Given the description of an element on the screen output the (x, y) to click on. 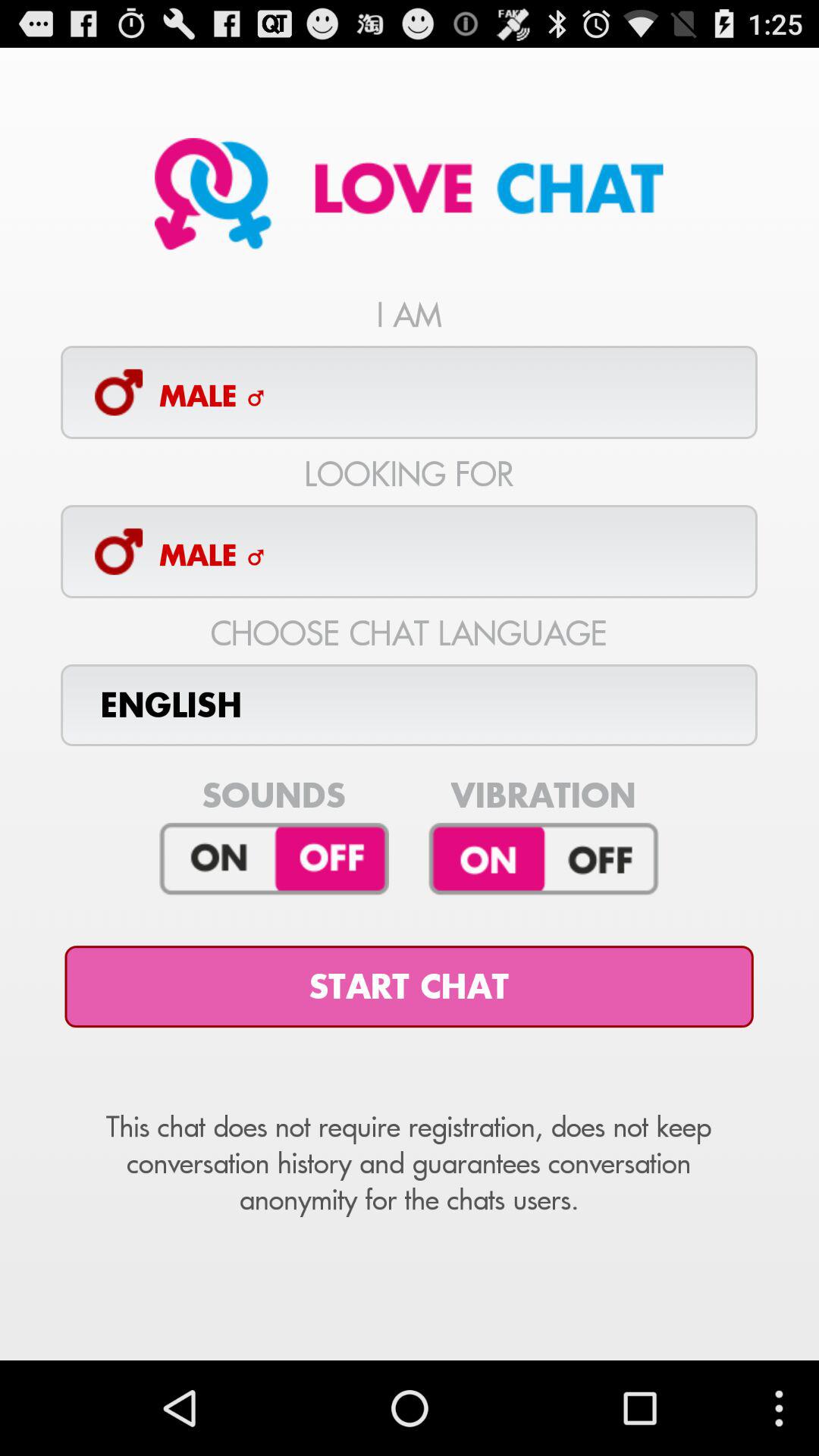
vibration option (543, 858)
